Given the description of an element on the screen output the (x, y) to click on. 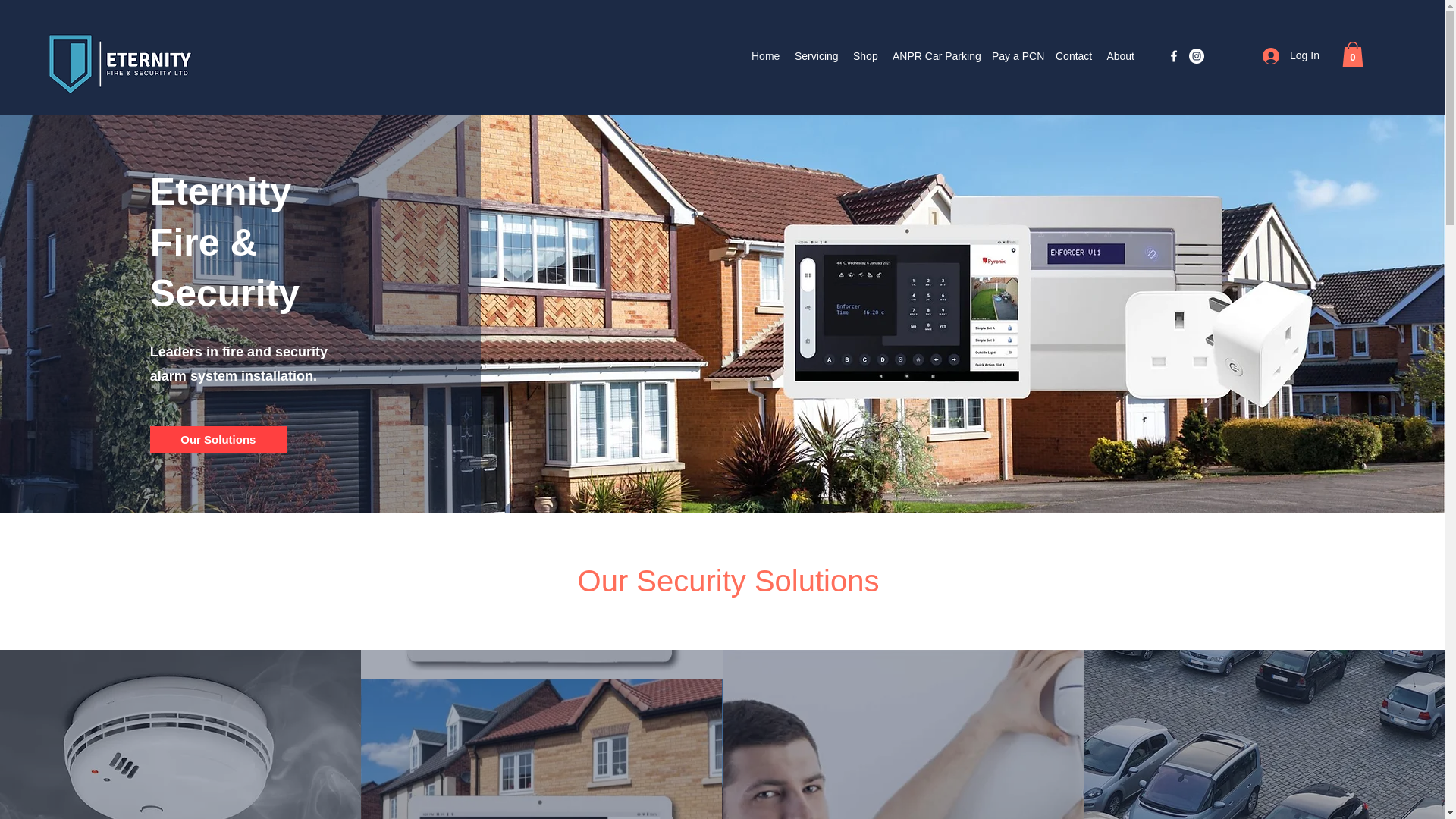
Pay a PCN (1016, 56)
Contact (1073, 56)
Home (765, 56)
Servicing (816, 56)
Our Solutions (217, 438)
Log In (1286, 55)
Shop (865, 56)
ANPR Car Parking (934, 56)
About (1120, 56)
